Given the description of an element on the screen output the (x, y) to click on. 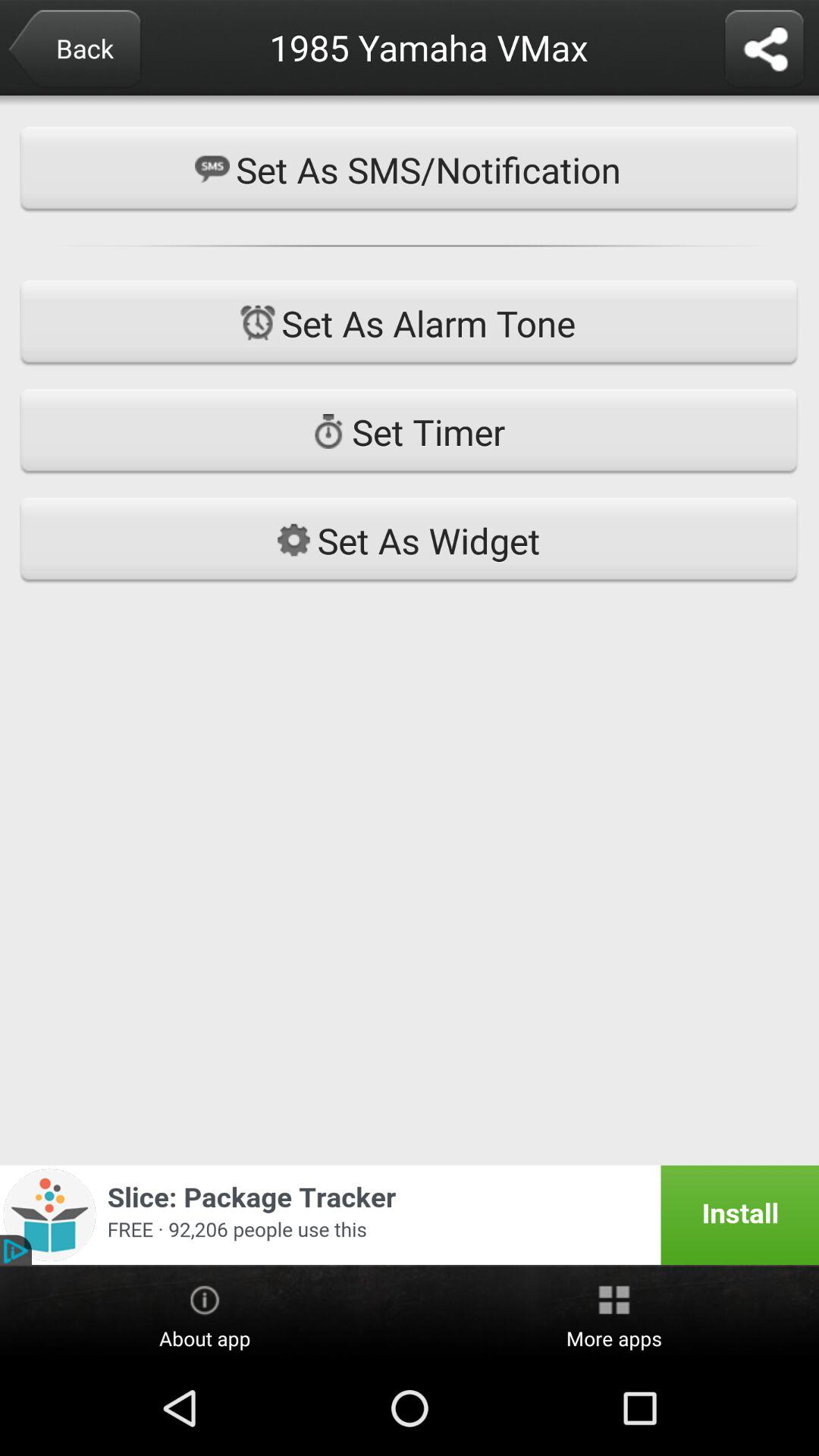
press about app item (204, 1314)
